Given the description of an element on the screen output the (x, y) to click on. 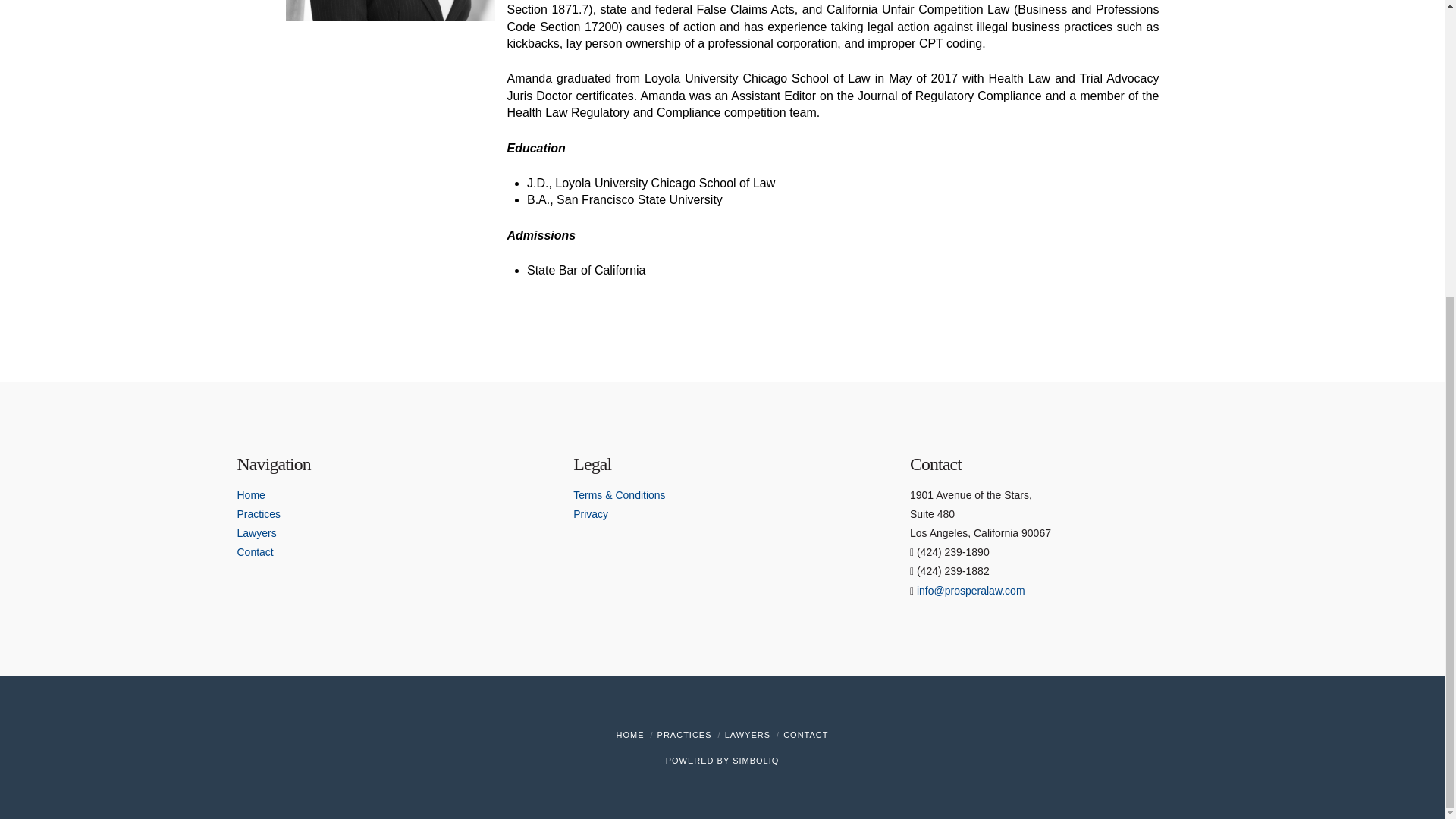
Contact (254, 551)
Home (249, 494)
CONTACT (805, 734)
HOME (629, 734)
Lawyers (255, 532)
SimboliQ Technologies (755, 759)
Practices (258, 513)
Privacy (590, 513)
PRACTICES (684, 734)
LAWYERS (747, 734)
